Given the description of an element on the screen output the (x, y) to click on. 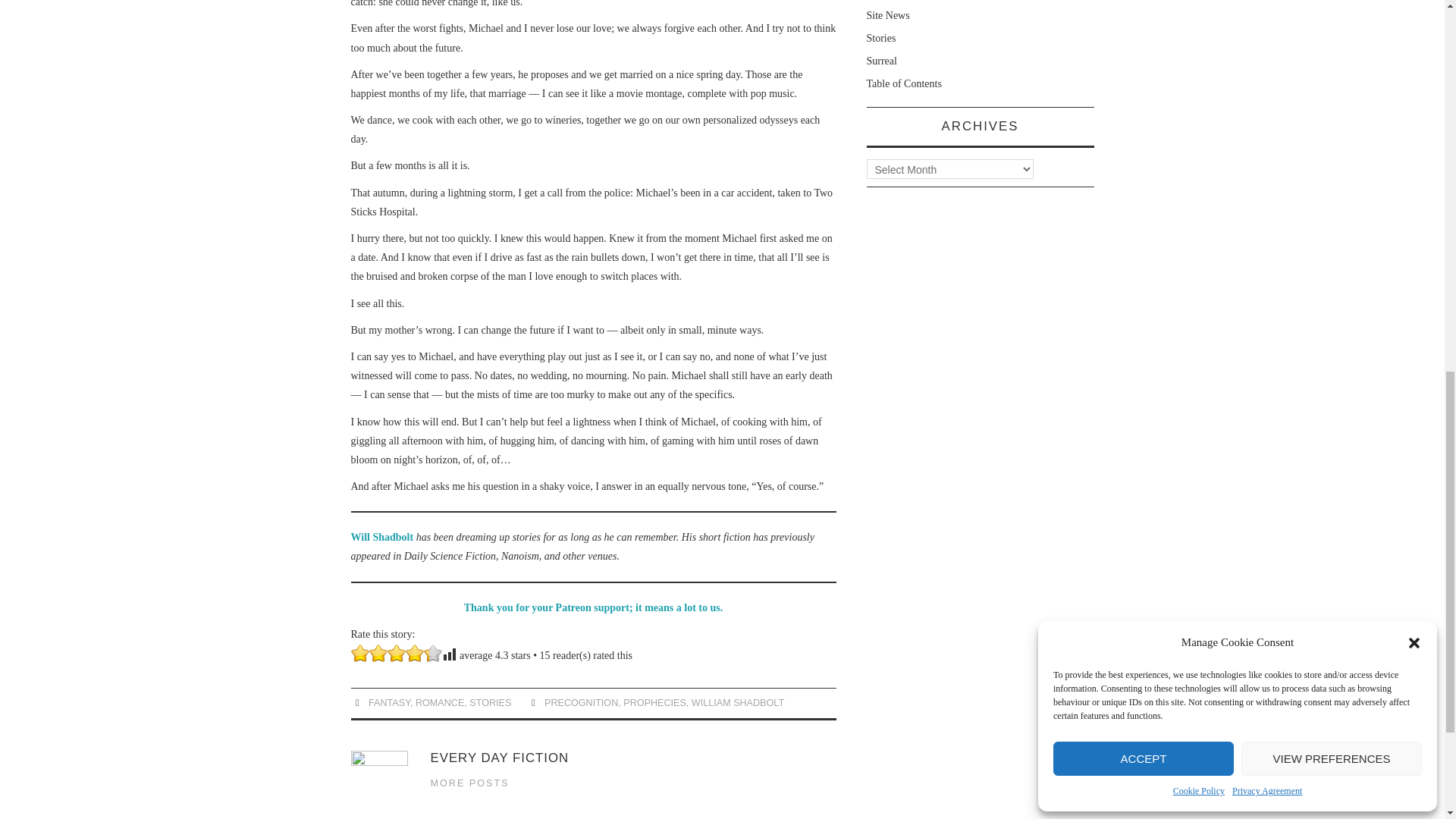
ROMANCE (439, 702)
FANTASY (389, 702)
Thank you for your Patreon support; it means a lot to us. (593, 607)
MORE POSTS (469, 783)
Will Shadbolt (381, 536)
PROPHECIES (654, 702)
STORIES (489, 702)
PRECOGNITION (580, 702)
WILLIAM SHADBOLT (737, 702)
